Given the description of an element on the screen output the (x, y) to click on. 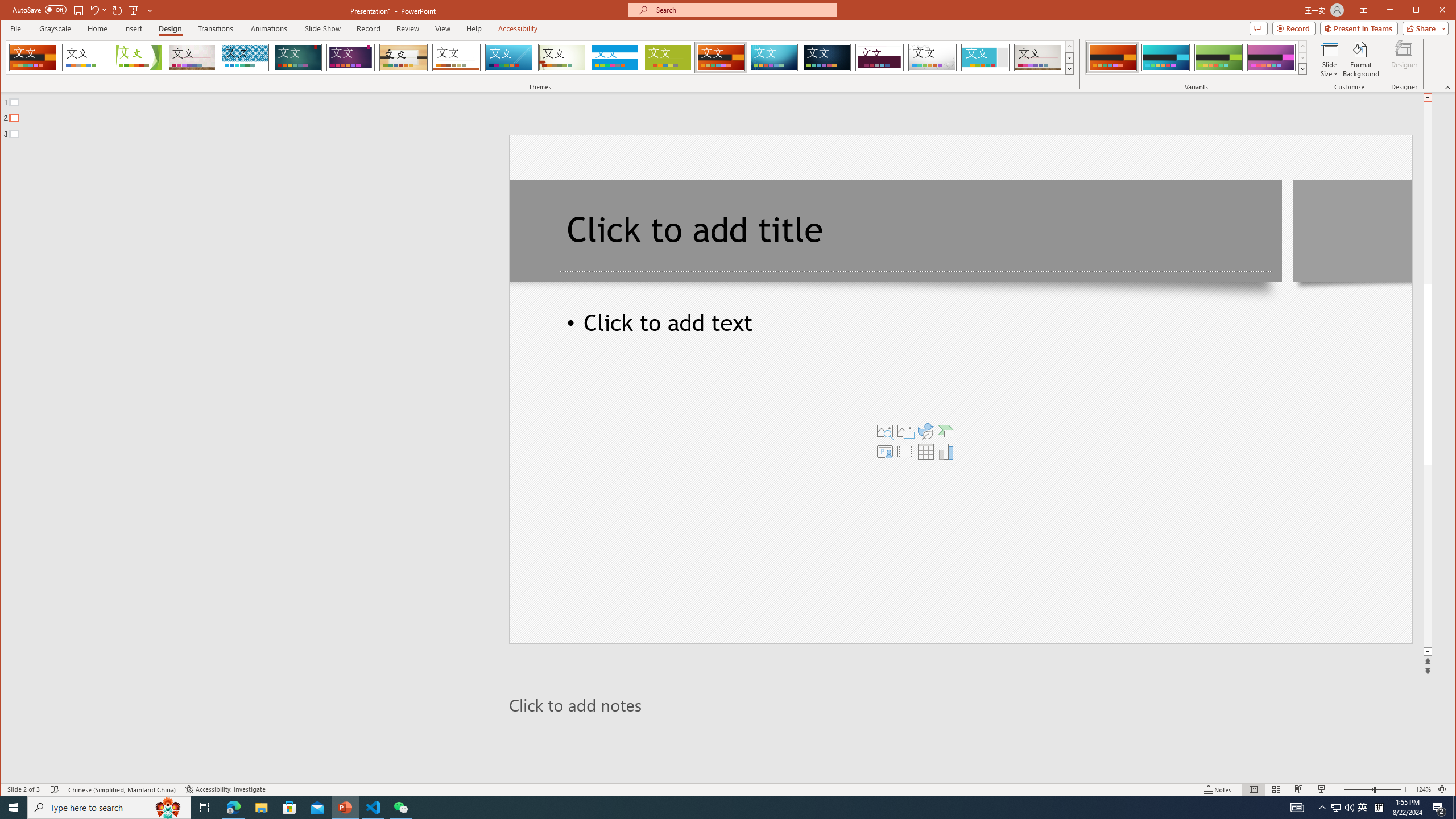
Berlin (720, 57)
Content Placeholder (915, 441)
Organic (403, 57)
